Given the description of an element on the screen output the (x, y) to click on. 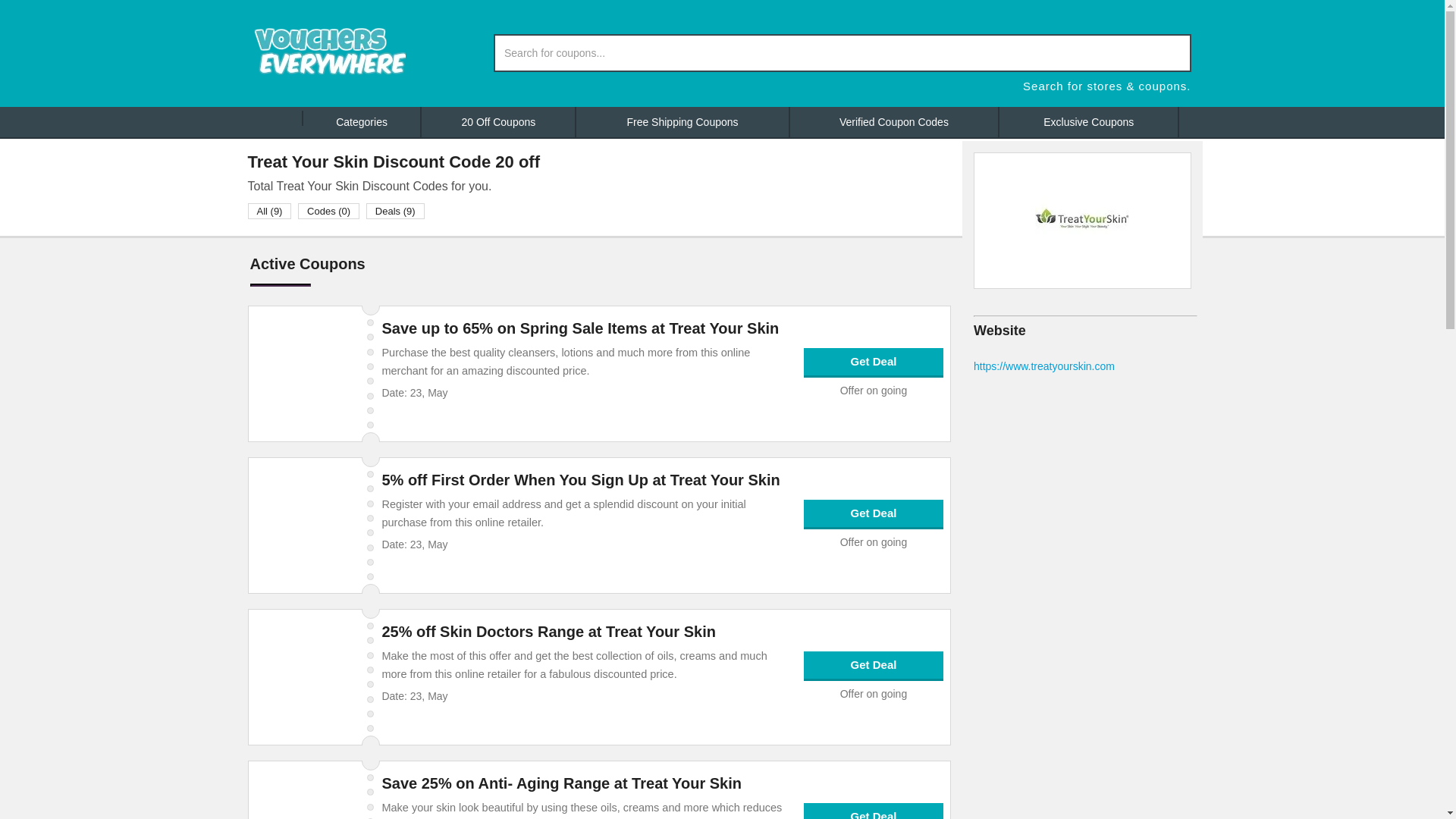
Get Deal (873, 815)
Categories (362, 122)
Verified Coupon Codes (894, 122)
Get Deal (873, 361)
Free Shipping Coupons (682, 122)
Get Deal (873, 665)
Exclusive Coupons (1088, 122)
20 Off Coupons (499, 122)
Get Deal (873, 513)
